Given the description of an element on the screen output the (x, y) to click on. 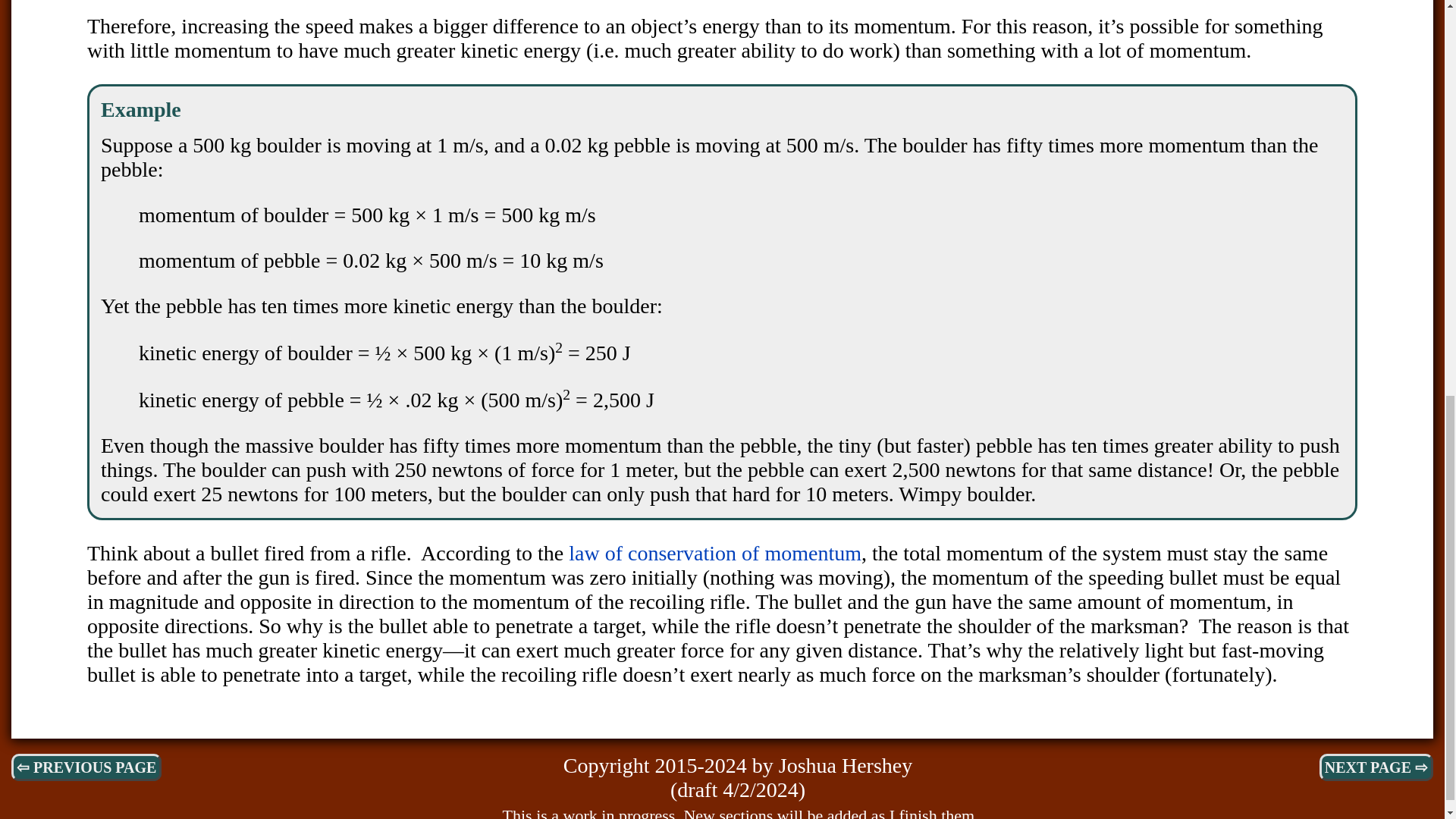
law of conservation of momentum (715, 553)
